Given the description of an element on the screen output the (x, y) to click on. 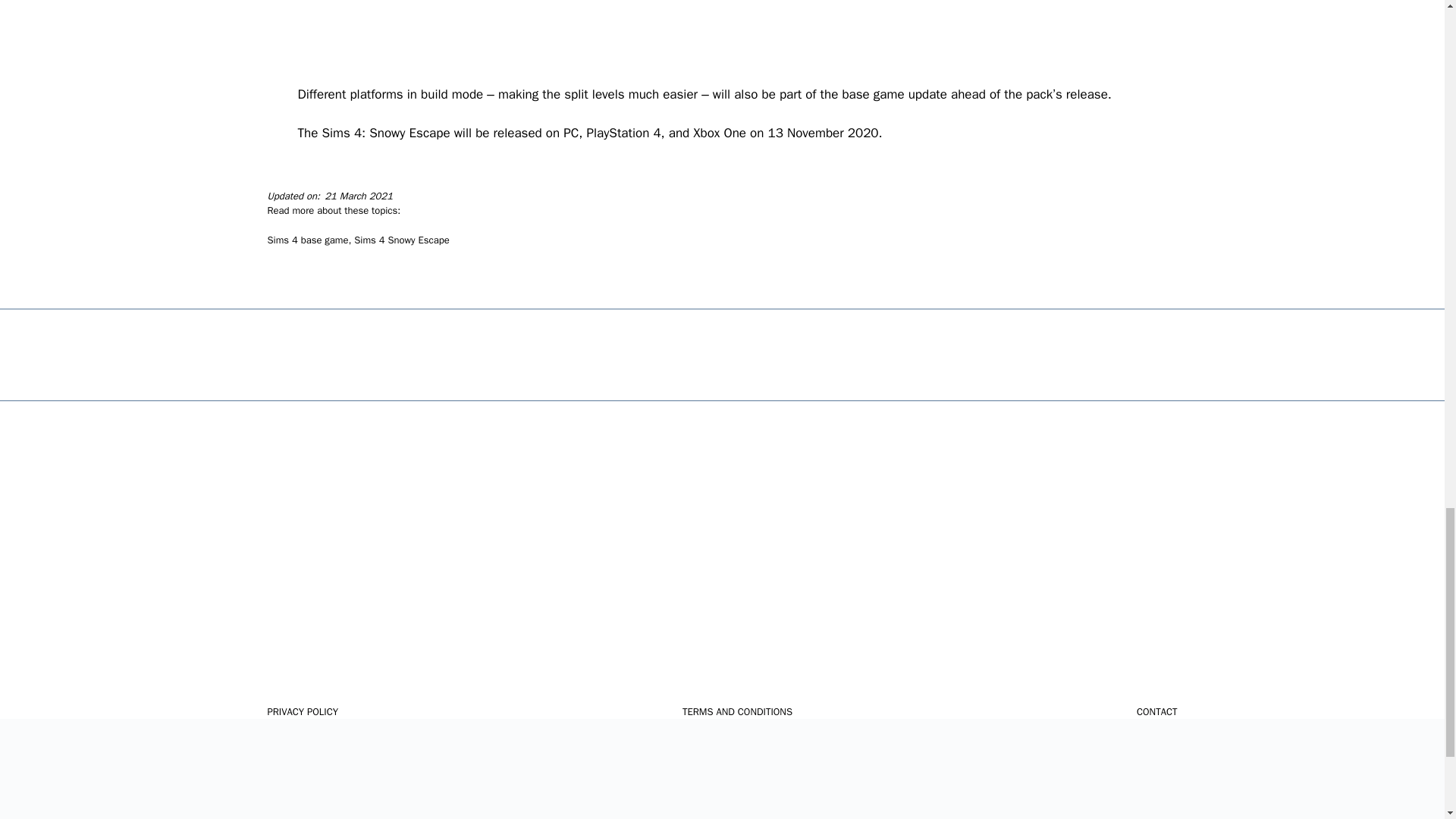
Sims 4 Snowy Escape (400, 239)
Advertisement (722, 42)
PRIVACY POLICY (301, 711)
CONTACT (1157, 711)
TERMS AND CONDITIONS (737, 711)
Sims 4 base game (306, 239)
making the split levels much easier (597, 94)
